Given the description of an element on the screen output the (x, y) to click on. 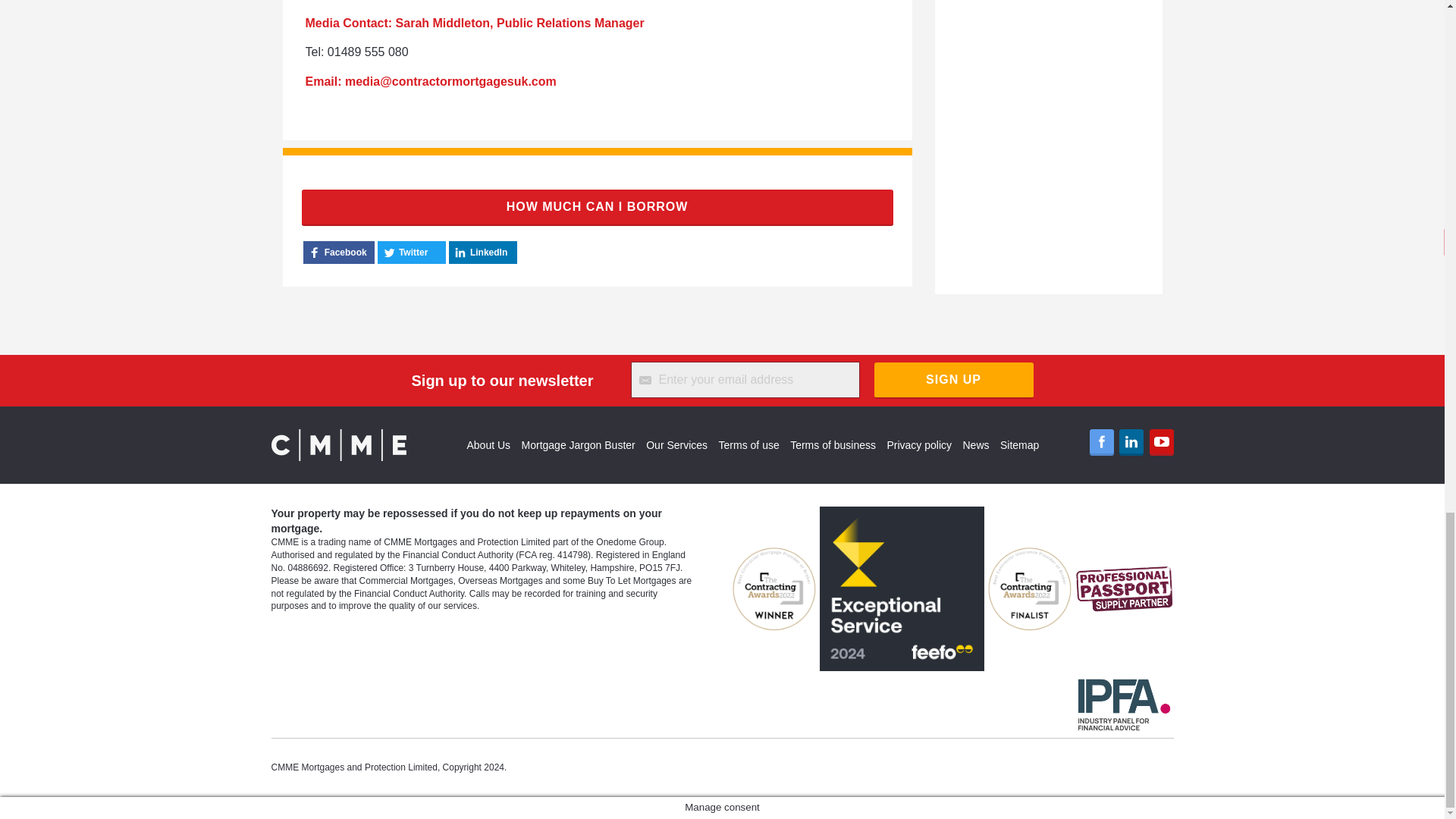
LinkedIn (1130, 442)
Youtube (1161, 442)
Facebook (1101, 442)
How much can I borrow (597, 207)
